Given the description of an element on the screen output the (x, y) to click on. 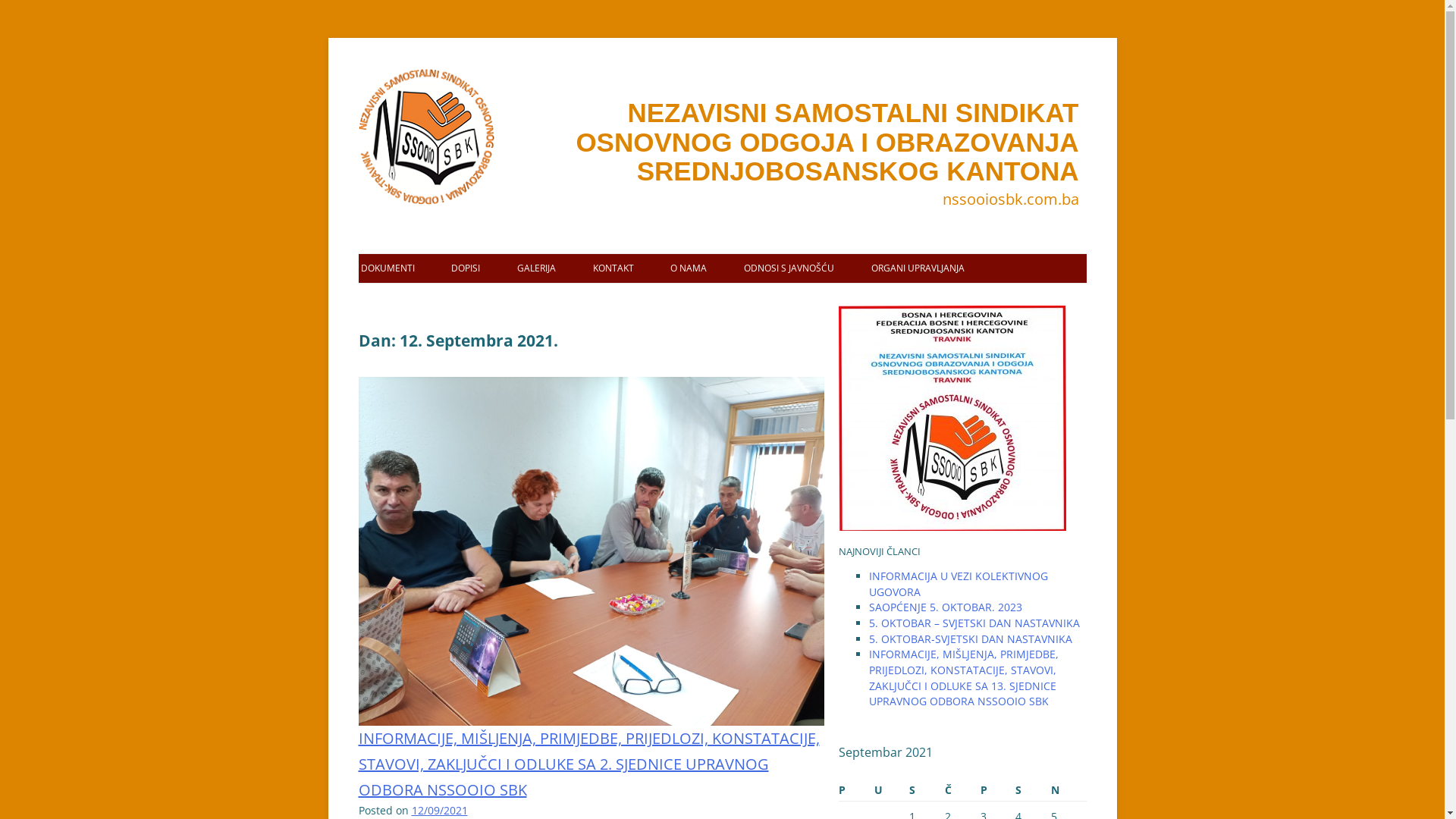
12/09/2021 Element type: text (439, 810)
DOKUMENTI Element type: text (387, 268)
ORGANI UPRAVLJANJA Element type: text (917, 268)
Skip to content Element type: text (357, 67)
INFORMACIJA U VEZI KOLEKTIVNOG UGOVORA Element type: text (958, 583)
GALERIJA Element type: text (536, 268)
5. OKTOBAR-SVJETSKI DAN NASTAVNIKA Element type: text (970, 638)
Pretraga Element type: text (43, 15)
KONTAKT Element type: text (613, 268)
DOPISI Element type: text (465, 268)
O NAMA Element type: text (688, 268)
